Given the description of an element on the screen output the (x, y) to click on. 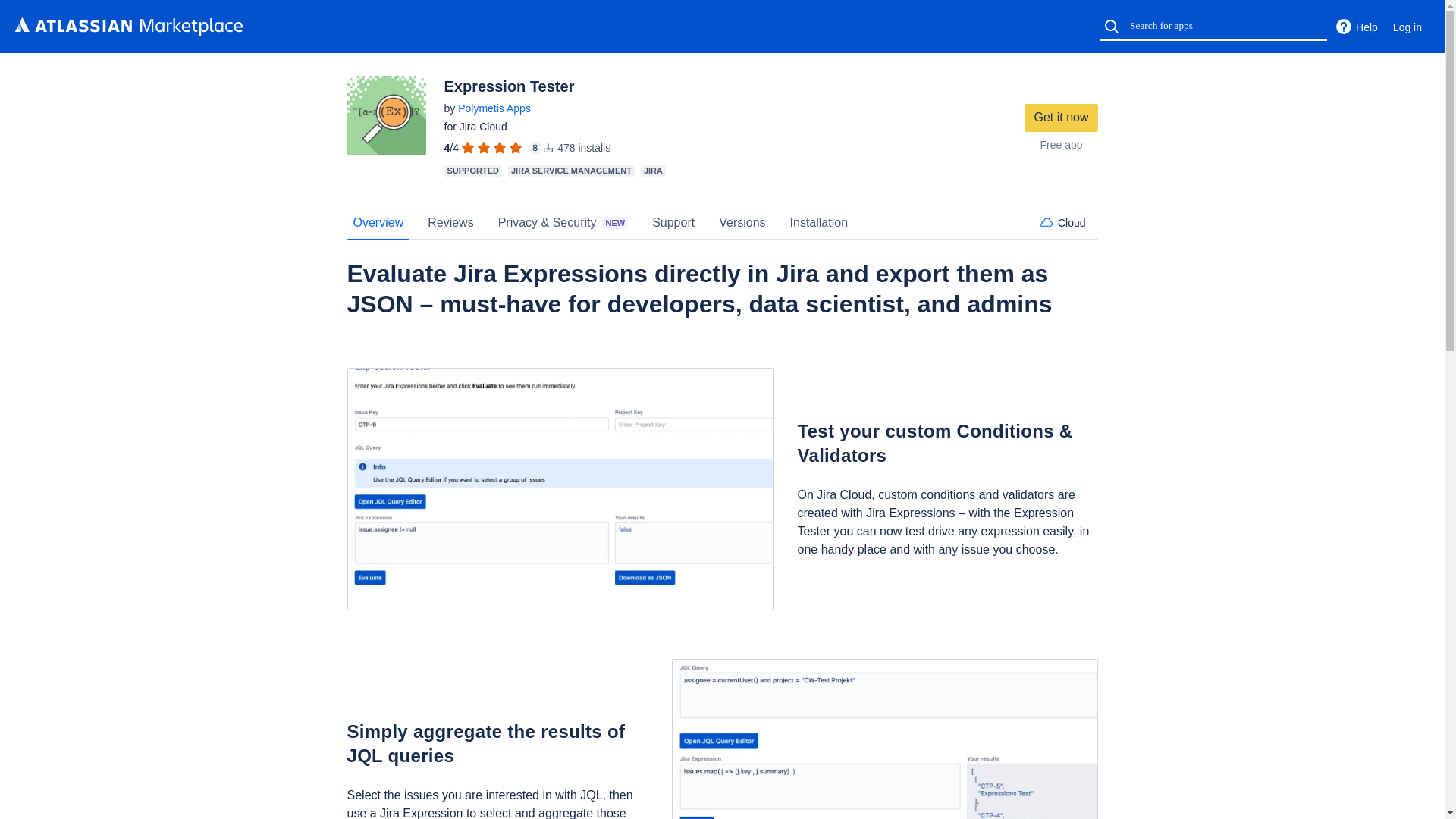
Atlassian Marketplace (128, 26)
Polymetis Apps (494, 108)
Get it now (1061, 117)
Help (1356, 26)
Log in (1407, 26)
